Given the description of an element on the screen output the (x, y) to click on. 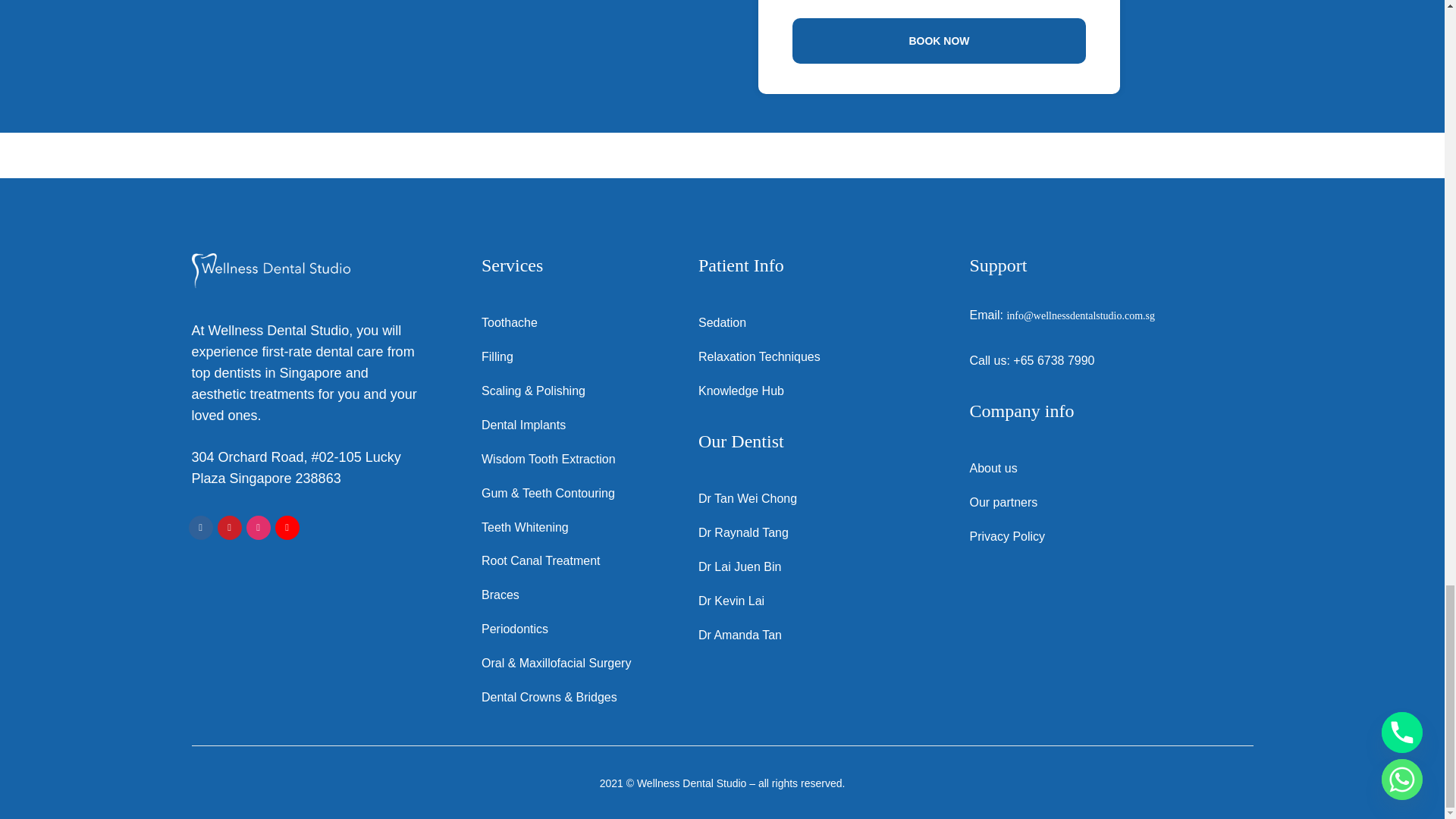
Instagram (257, 527)
Pinterest (228, 527)
Youtube (286, 527)
Facebook (199, 527)
Book Now (939, 40)
